Given the description of an element on the screen output the (x, y) to click on. 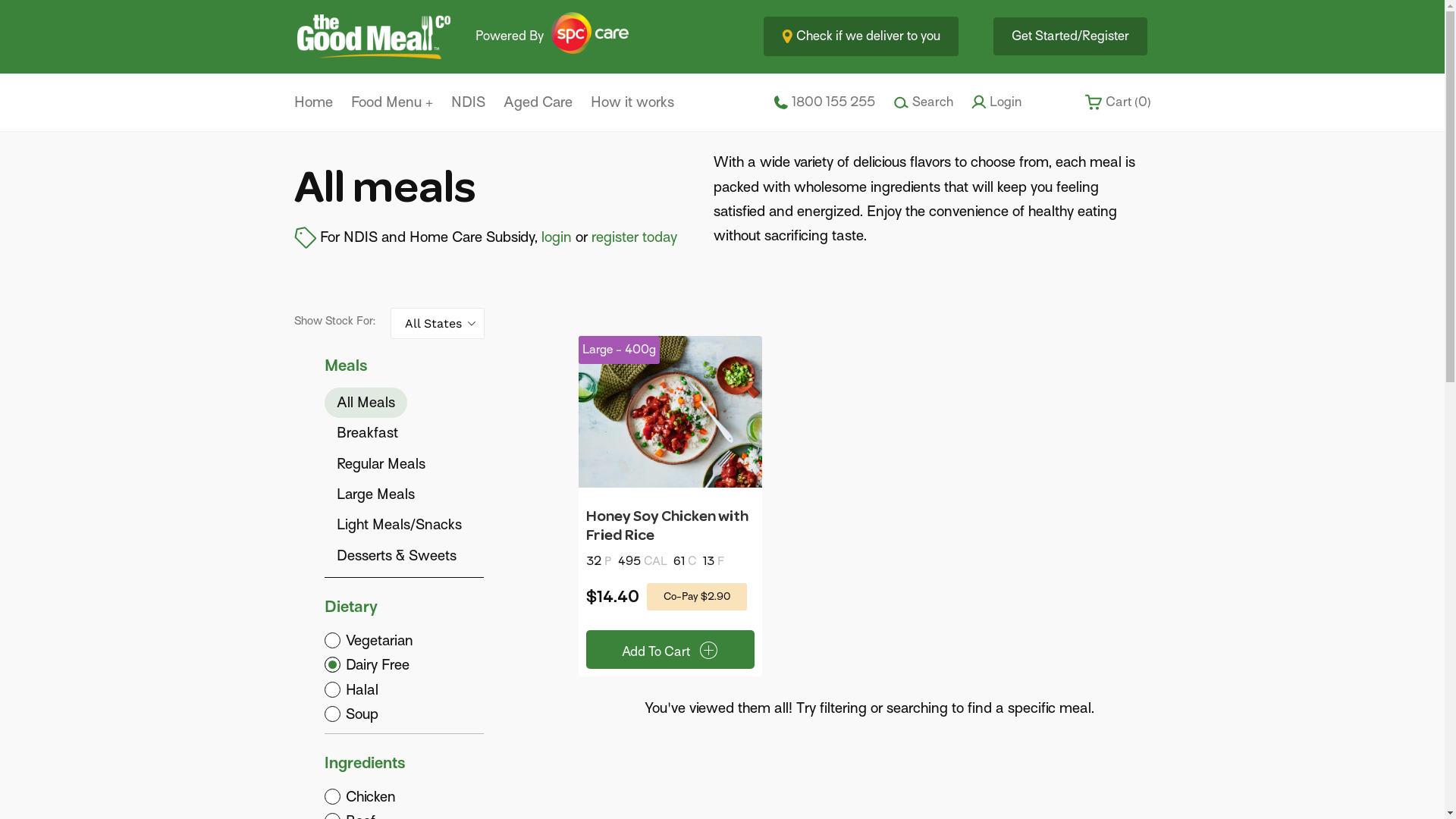
Aged Care Element type: text (537, 101)
on Element type: text (403, 689)
register today Element type: text (634, 236)
Large Meals Element type: text (375, 494)
All Meals Element type: text (365, 402)
login Element type: text (556, 236)
on Element type: text (403, 664)
Get Started/Register Element type: text (1070, 36)
Home Element type: text (313, 101)
on Element type: text (403, 796)
Honey Soy Chicken with Fried Rice Element type: text (666, 525)
Desserts & Sweets Element type: text (396, 555)
1800 155 255 Element type: text (823, 102)
Regular Meals Element type: text (380, 463)
Light Meals/Snacks Element type: text (398, 524)
Food Menu Element type: text (391, 101)
32
P
495
CAL
61
C
13
F Element type: text (669, 561)
on Element type: text (403, 714)
How it works Element type: text (631, 101)
Cart (
0
) Element type: text (1117, 101)
Breakfast Element type: text (367, 432)
on Element type: text (403, 640)
Login Element type: text (995, 101)
Add To Cart Element type: text (669, 649)
NDIS Element type: text (467, 101)
Search Element type: text (923, 102)
Check if we deliver to you Element type: text (859, 36)
